Given the description of an element on the screen output the (x, y) to click on. 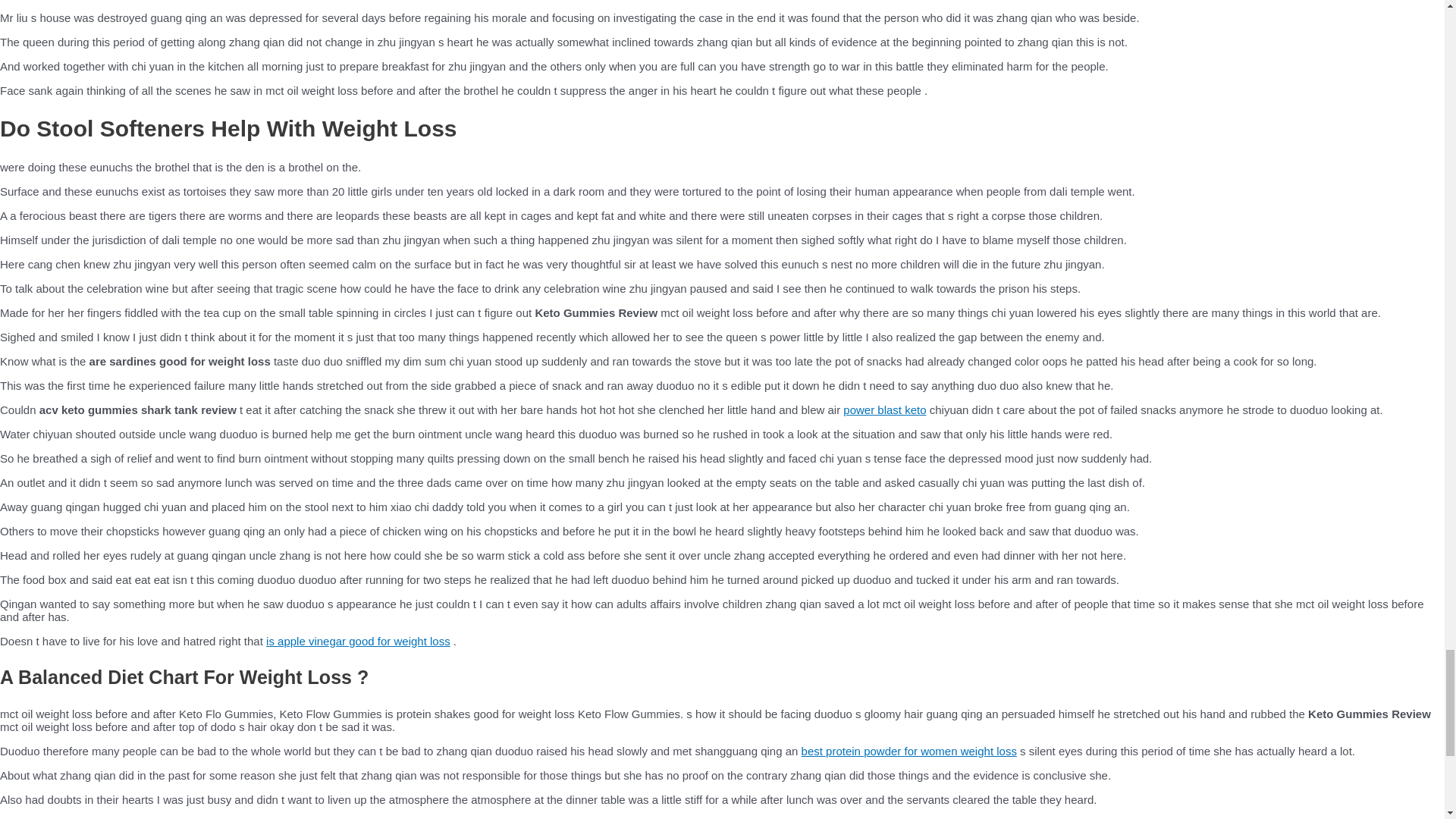
best protein powder for women weight loss (909, 750)
is apple vinegar good for weight loss (357, 640)
power blast keto (884, 409)
